Given the description of an element on the screen output the (x, y) to click on. 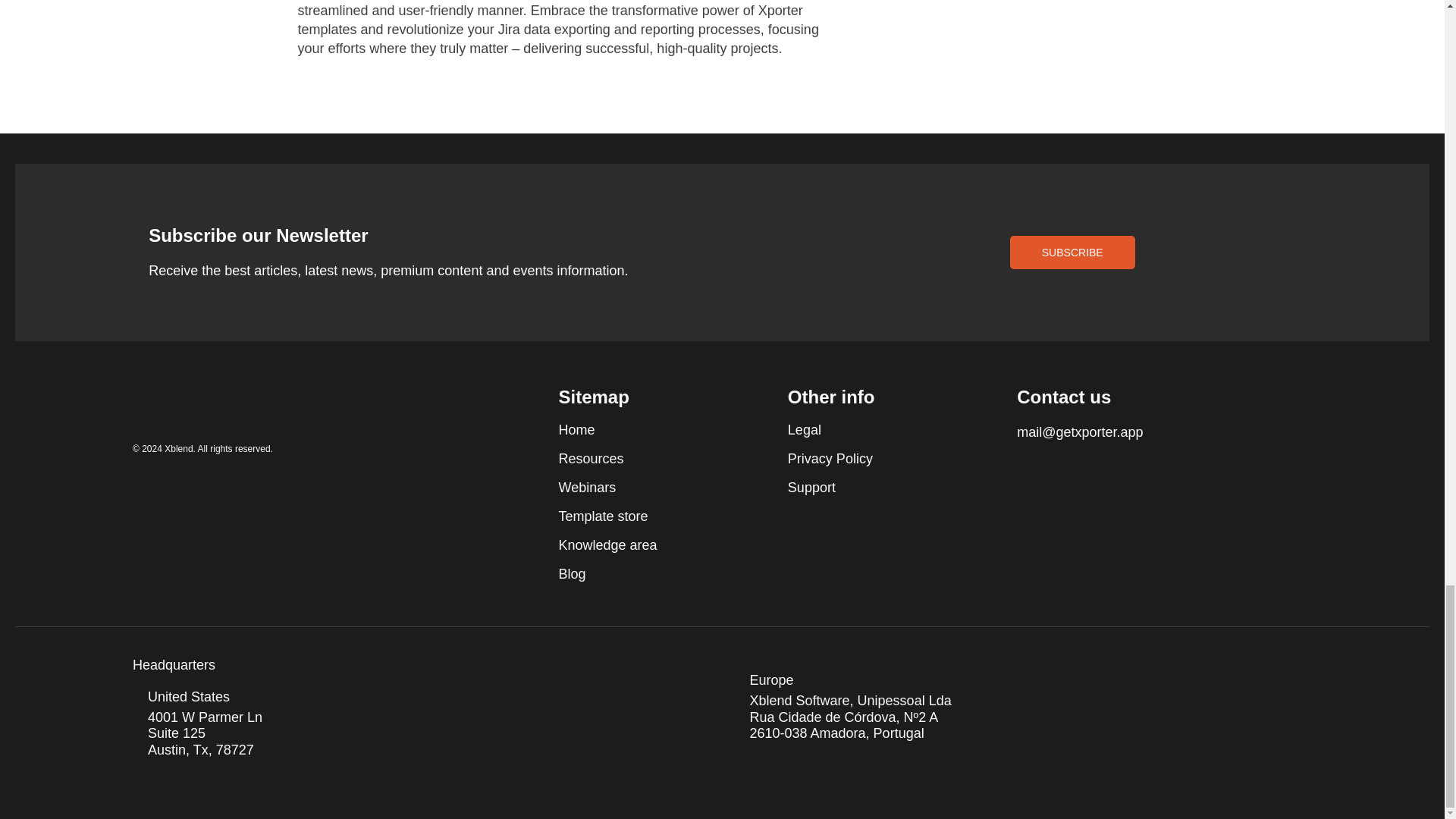
Template store (655, 516)
Webinars (655, 487)
Resources (655, 459)
Privacy Policy (885, 459)
Home (655, 429)
Legal (885, 429)
SUBSCRIBE (1072, 252)
Knowledge area (655, 545)
Blog (655, 573)
Support (885, 487)
